Given the description of an element on the screen output the (x, y) to click on. 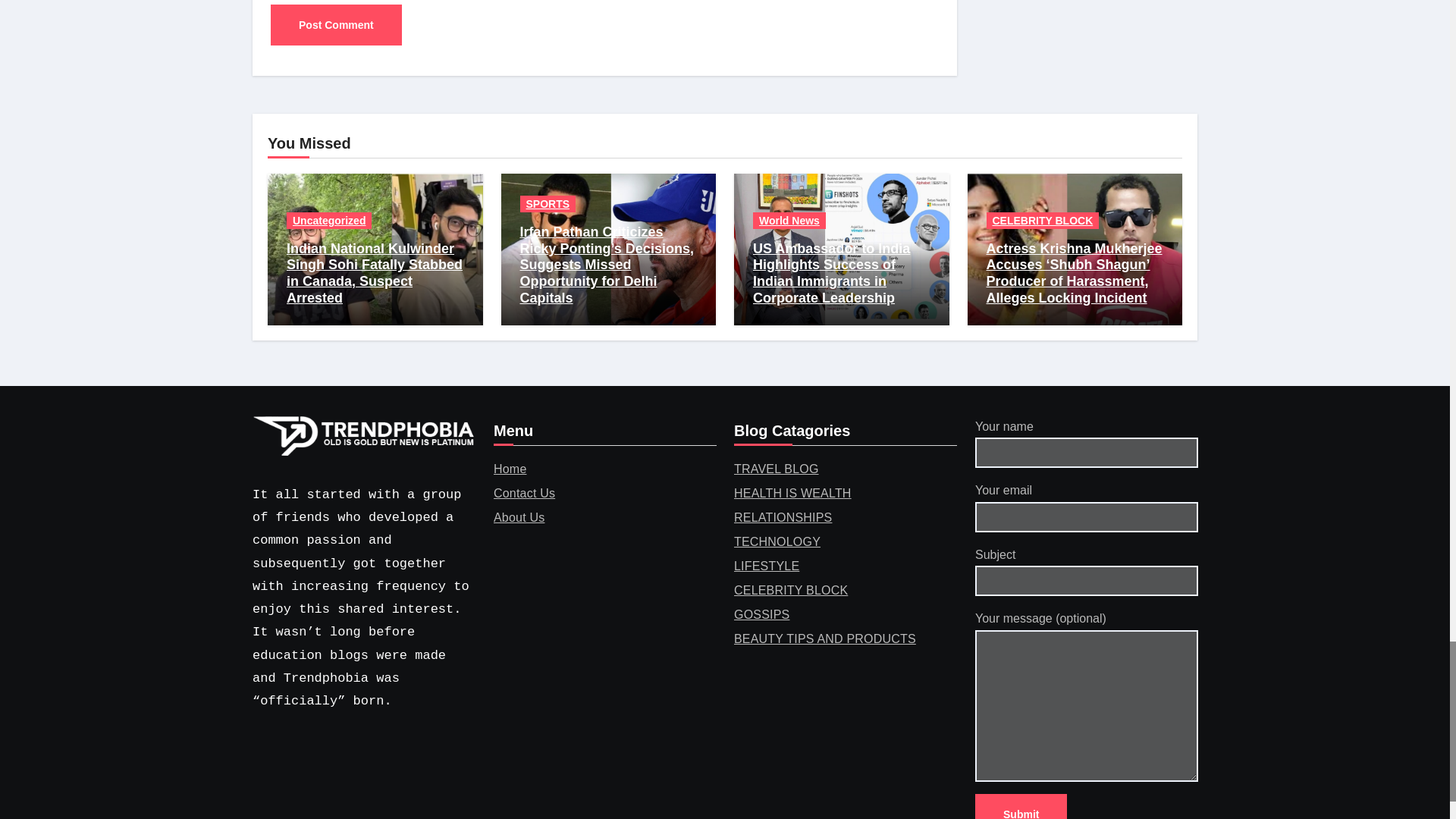
Post Comment (335, 24)
Submit (1021, 806)
